Given the description of an element on the screen output the (x, y) to click on. 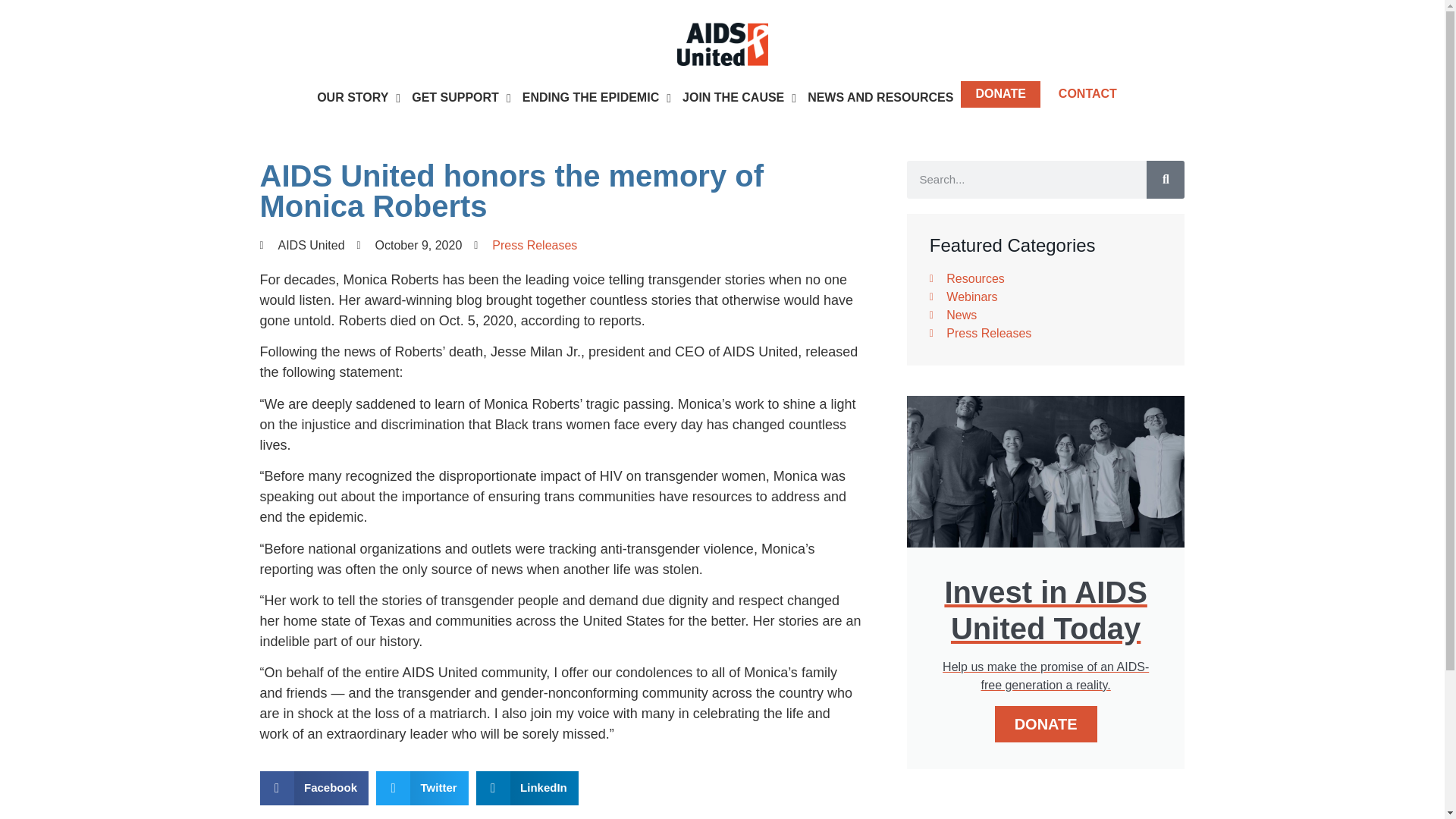
ENDING THE EPIDEMIC (596, 97)
NEWS AND RESOURCES (879, 97)
CONTACT (1087, 94)
OUR STORY (358, 97)
JOIN THE CAUSE (738, 97)
DONATE (999, 94)
GET SUPPORT (461, 97)
